Given the description of an element on the screen output the (x, y) to click on. 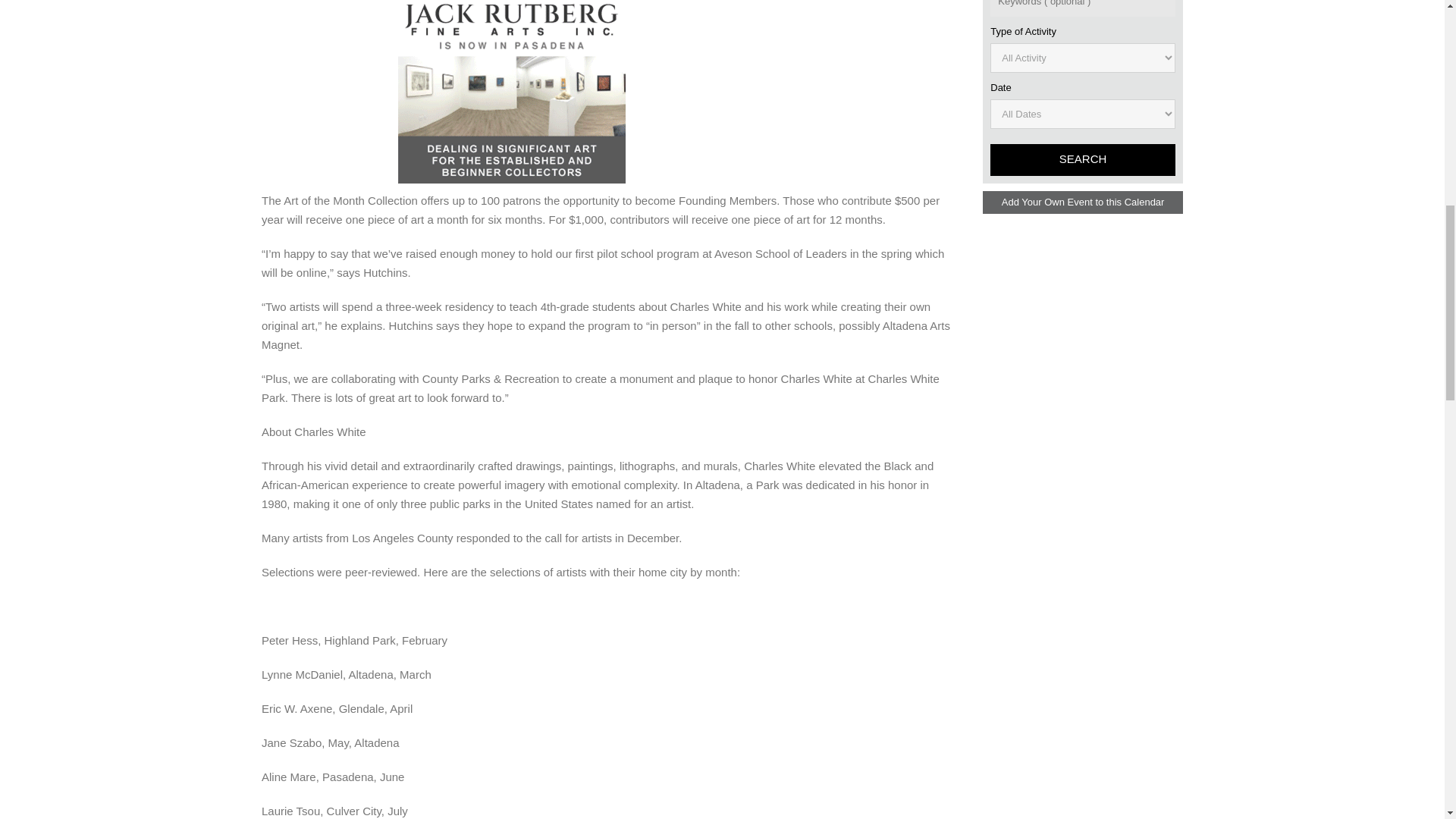
Search (1082, 160)
